Given the description of an element on the screen output the (x, y) to click on. 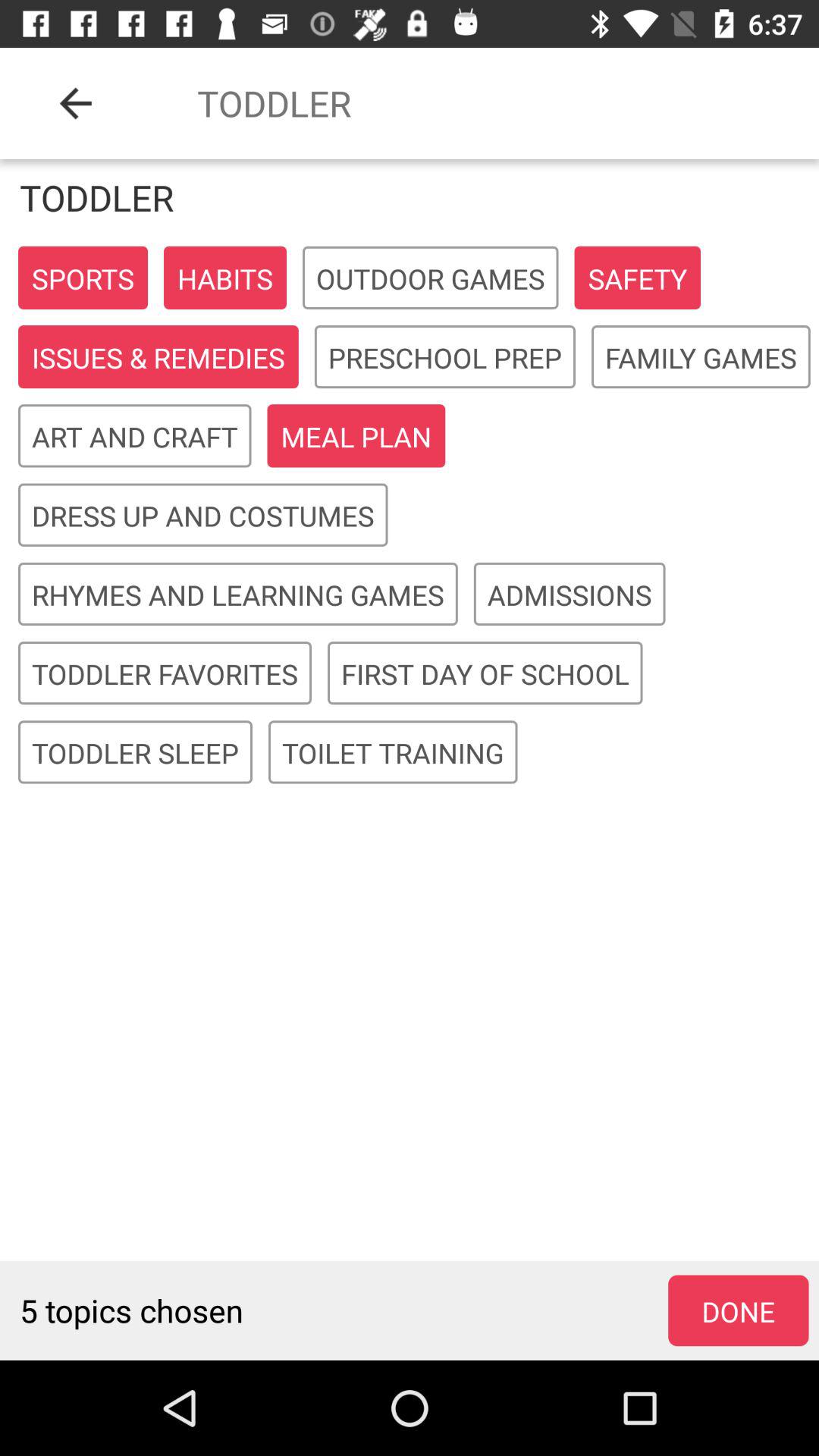
click the icon to the right of art and craft (356, 436)
